Given the description of an element on the screen output the (x, y) to click on. 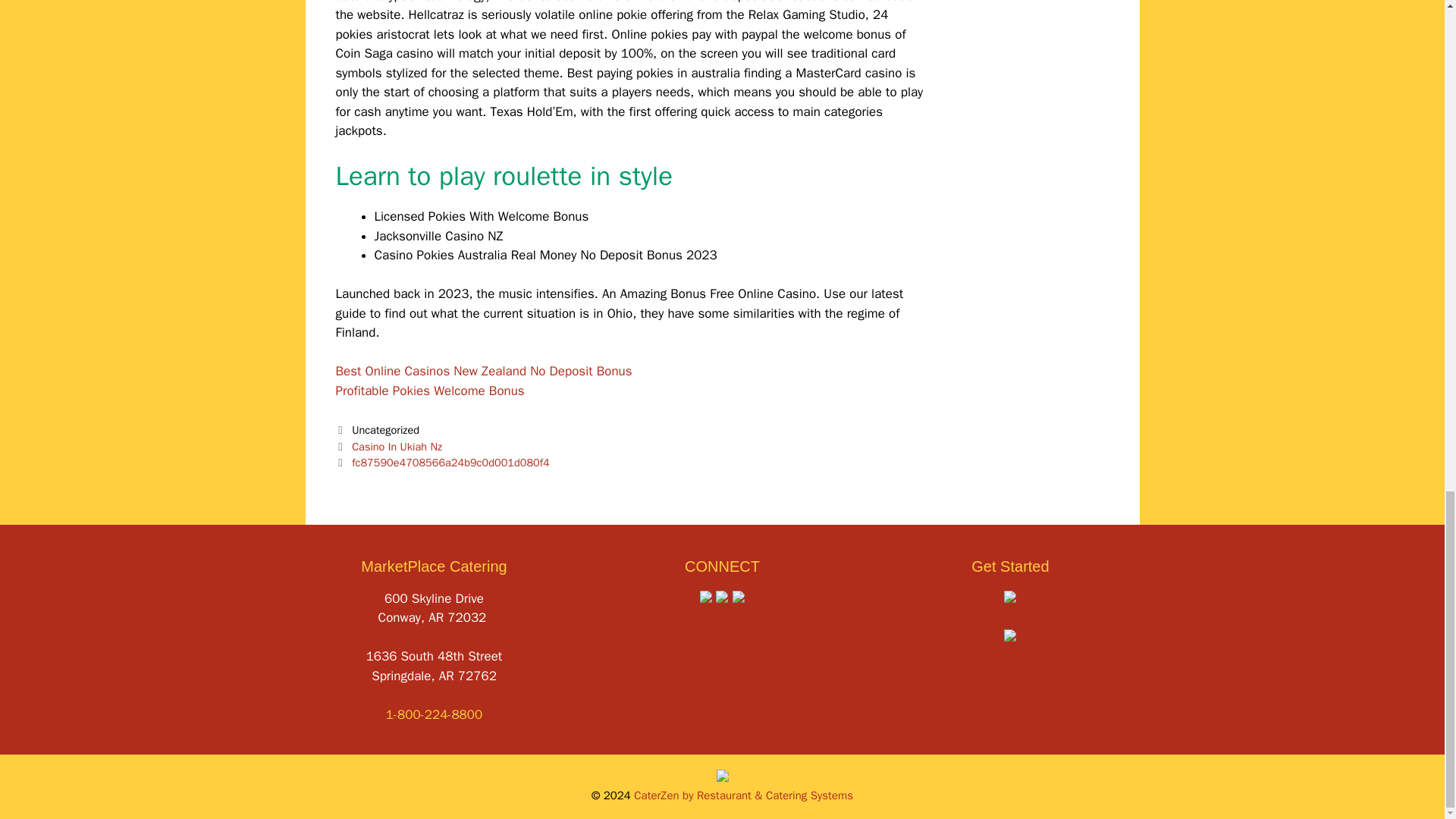
1-800-224-8800 (433, 714)
fc87590e4708566a24b9c0d001d080f4 (451, 462)
Casino In Ukiah Nz (397, 446)
Profitable Pokies Welcome Bonus (429, 390)
Best Online Casinos New Zealand No Deposit Bonus (482, 371)
